Given the description of an element on the screen output the (x, y) to click on. 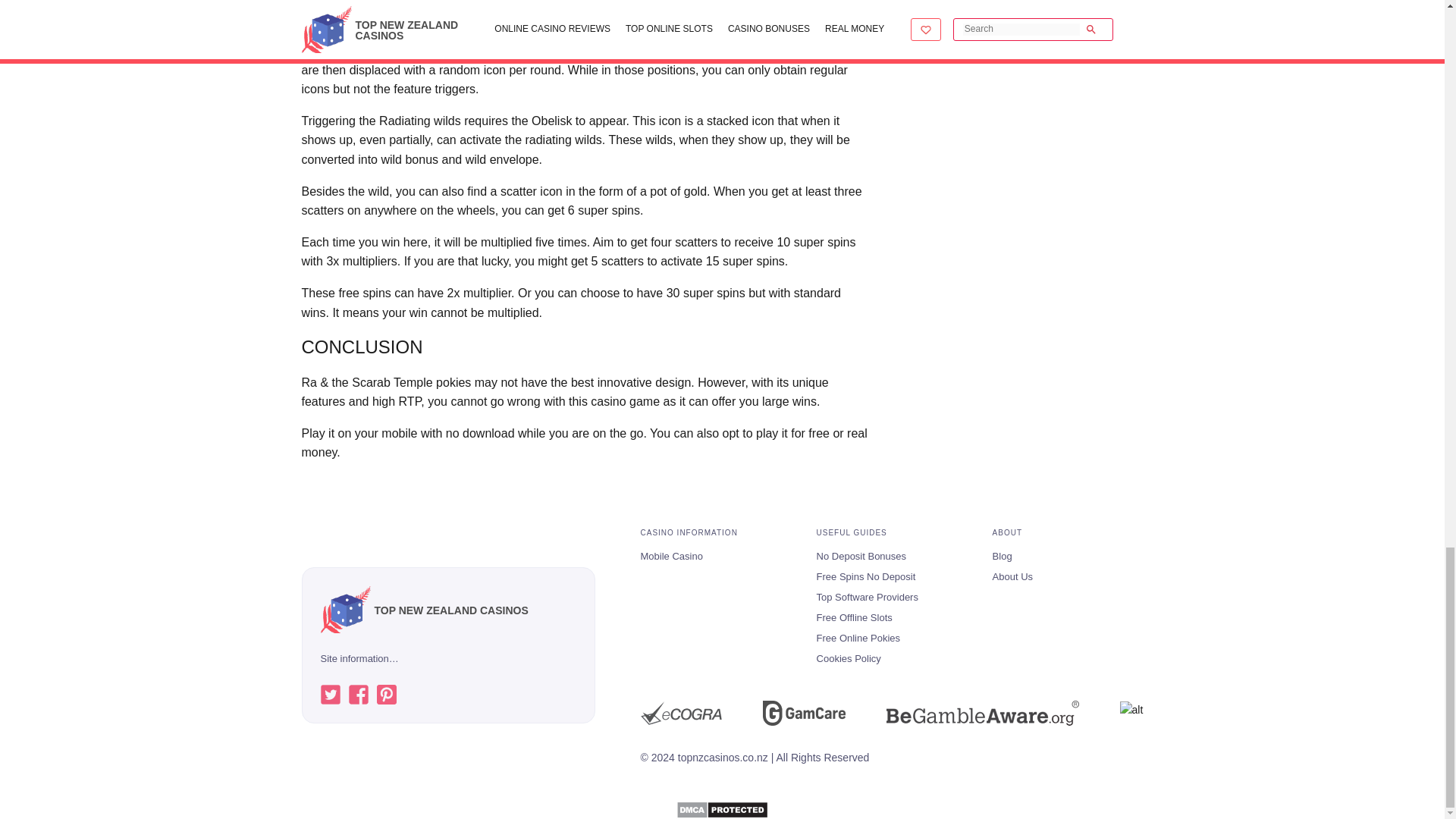
No Deposit Bonuses (861, 557)
DMCA.com Protection Status (722, 808)
About Us (1012, 578)
topnzcasinos.co.nz (344, 609)
Cookies Policy (848, 660)
Mobile Casino (670, 557)
Top Software Providers (867, 598)
Blog (1001, 557)
Free Spins No Deposit (865, 578)
TOP NEW ZEALAND CASINOS (423, 609)
